Given the description of an element on the screen output the (x, y) to click on. 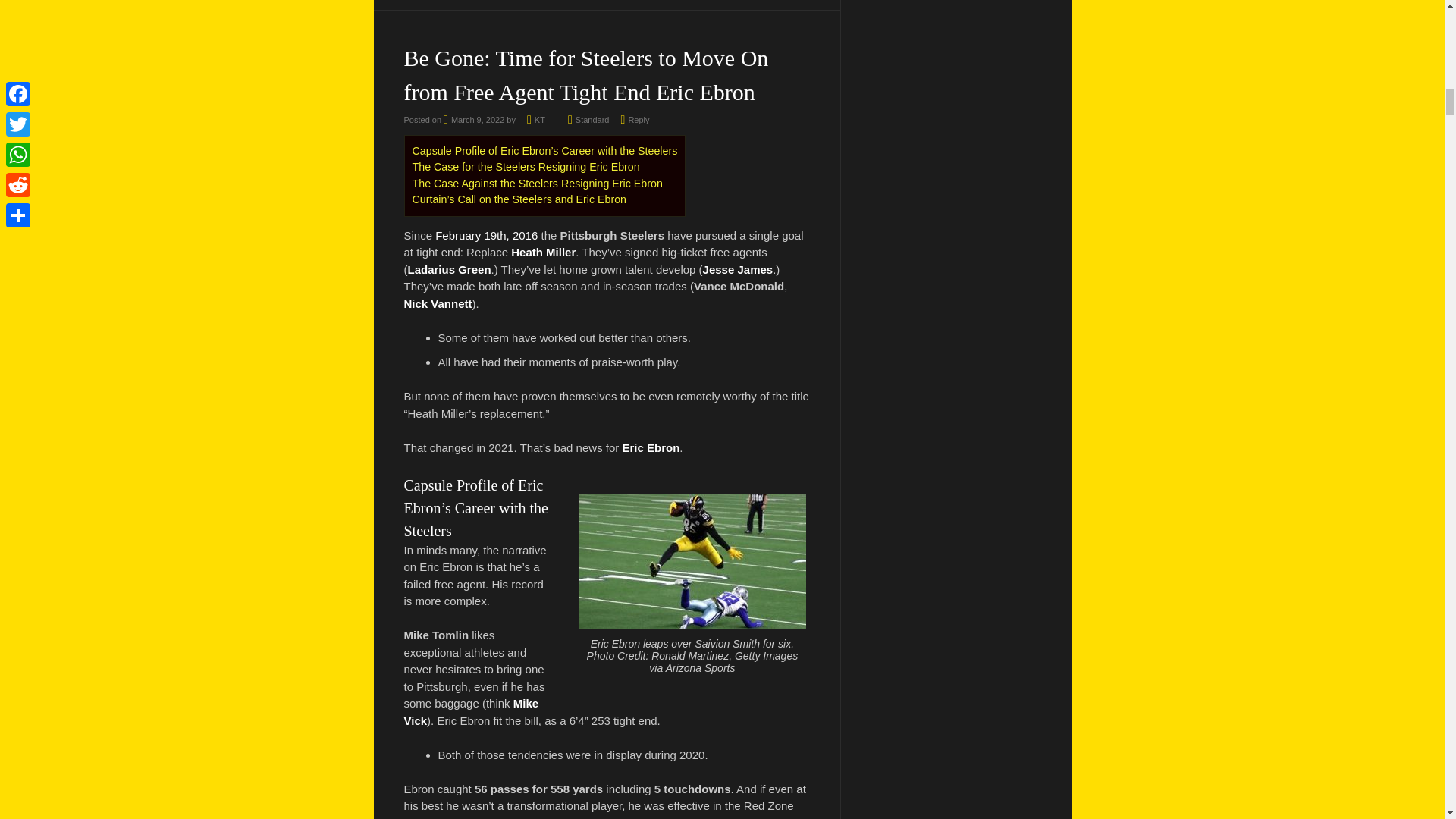
Permalink to  (592, 119)
View all posts by KT (539, 119)
March 9, 2022 (473, 119)
KT (539, 119)
9:30 AM (473, 119)
